Given the description of an element on the screen output the (x, y) to click on. 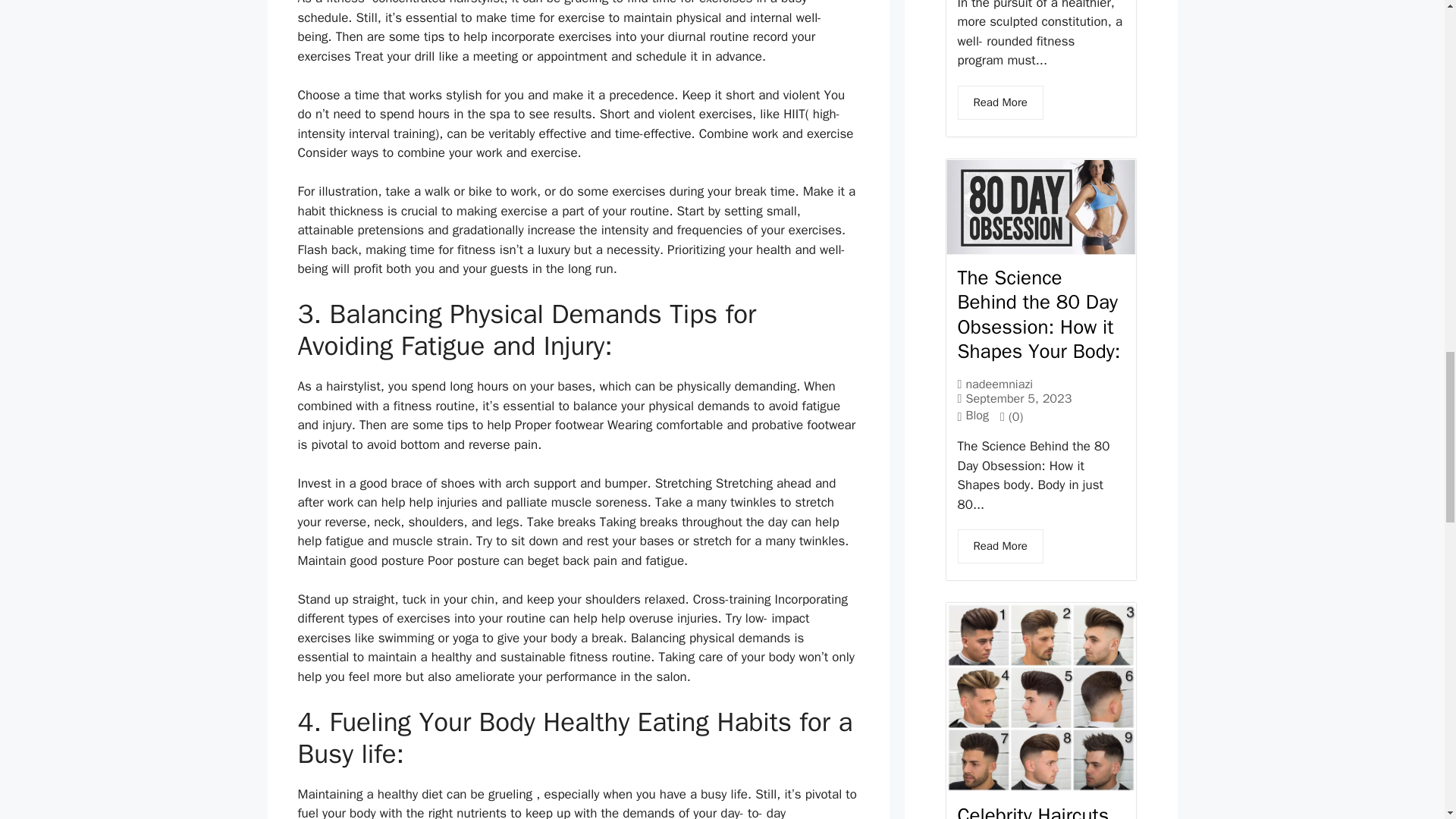
Read More (999, 102)
nadeemniazi (998, 384)
